Given the description of an element on the screen output the (x, y) to click on. 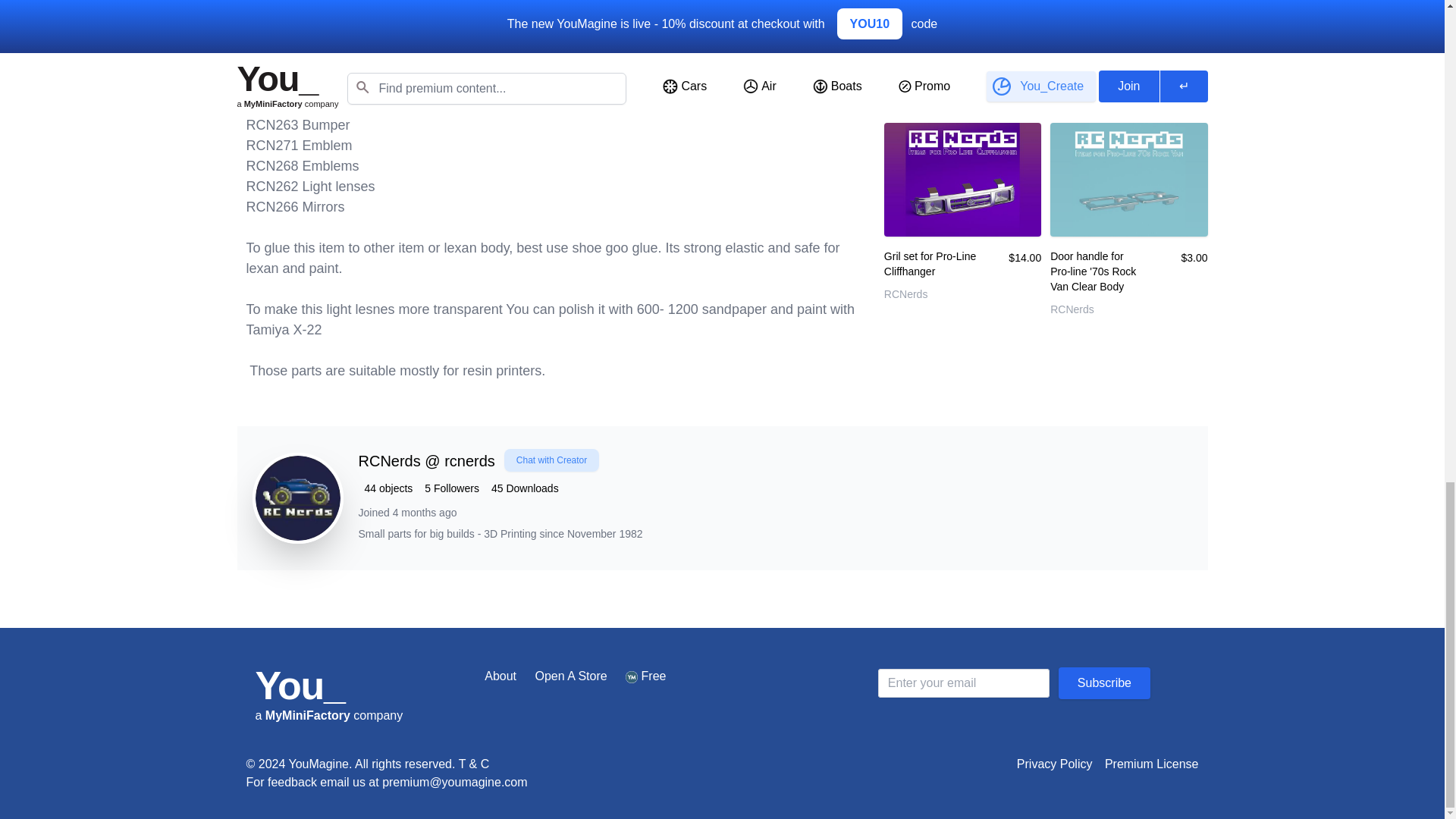
Subscribe (1104, 683)
